Given the description of an element on the screen output the (x, y) to click on. 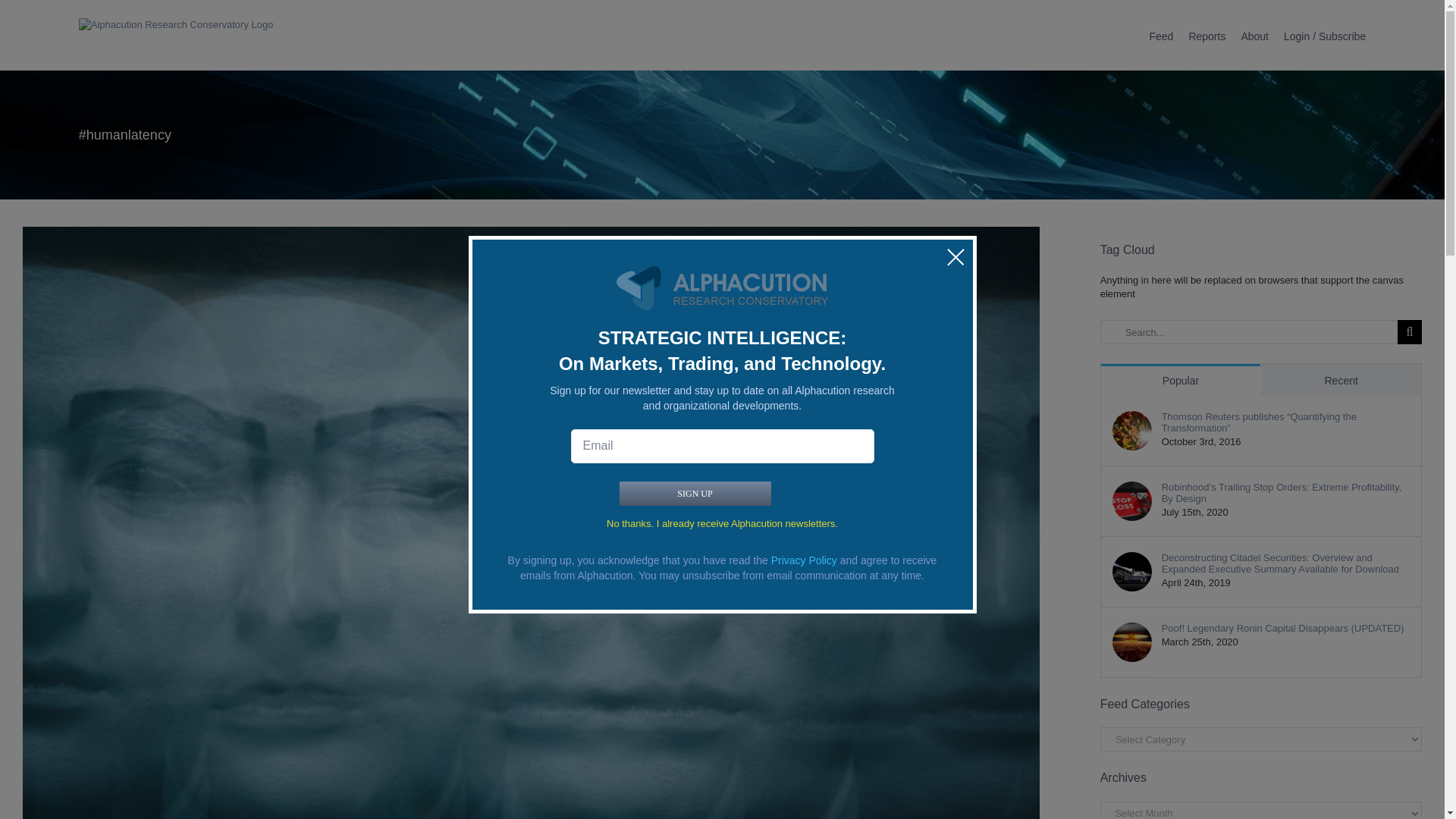
SIGN UP (694, 493)
